Given the description of an element on the screen output the (x, y) to click on. 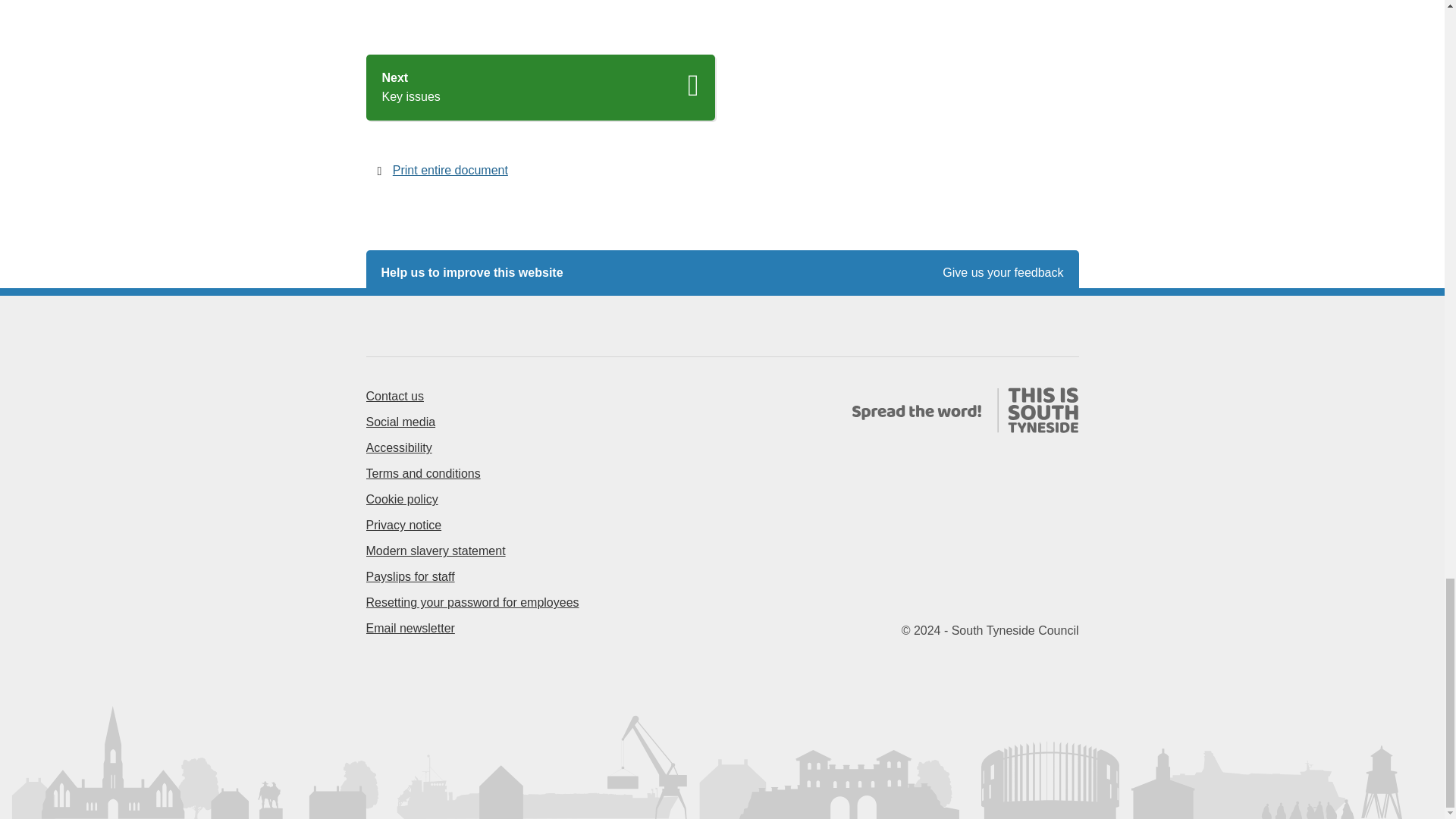
Resetting your password for employees (471, 602)
Modern slavery statement (435, 550)
Cookie policy (401, 499)
Payslips for staff (409, 576)
Privacy notice (403, 524)
Terms and conditions (422, 472)
Give us your feedback (1002, 272)
Contact us (539, 87)
Accessibility (394, 395)
